Given the description of an element on the screen output the (x, y) to click on. 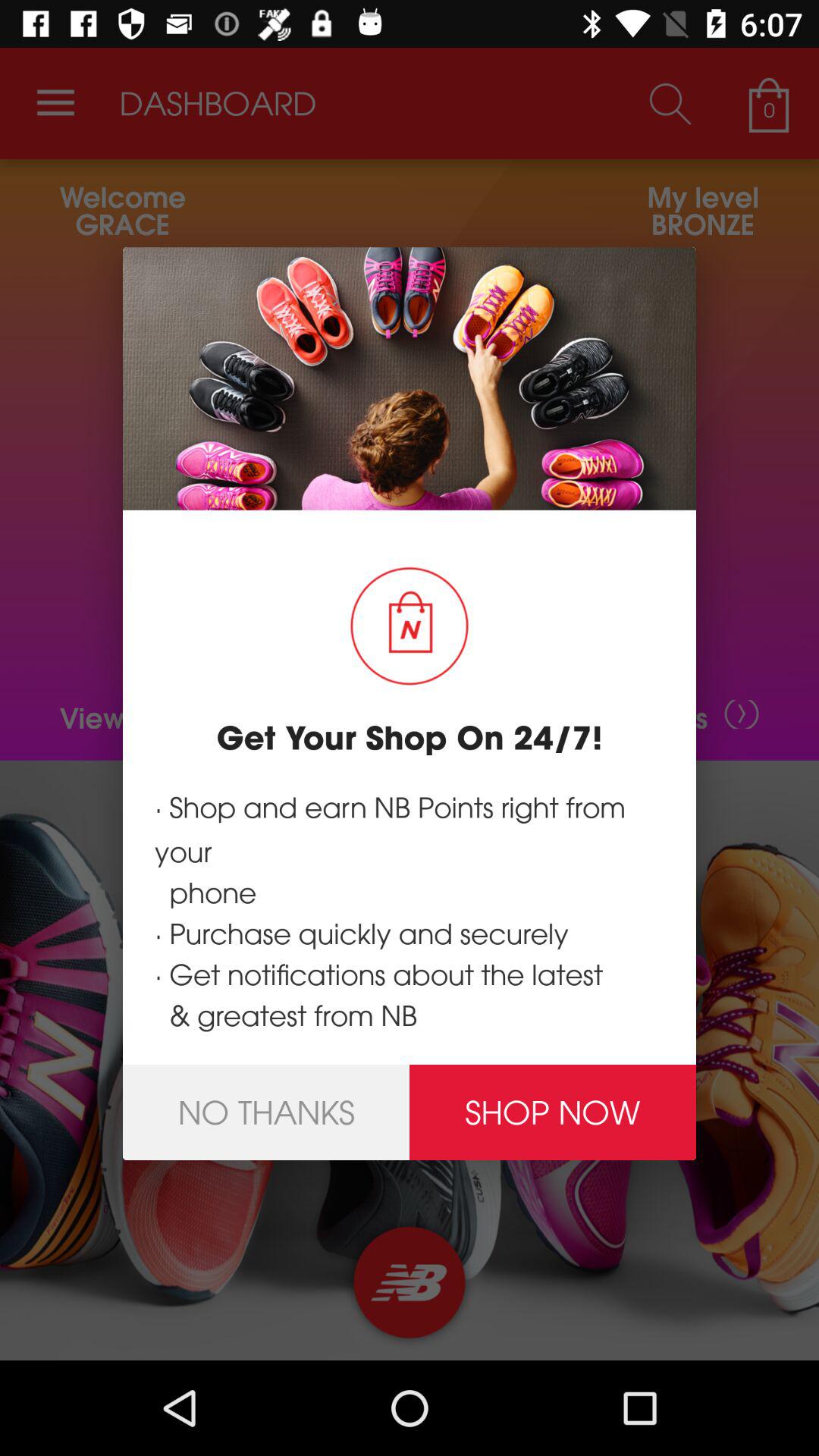
launch the icon next to the no thanks item (552, 1112)
